Given the description of an element on the screen output the (x, y) to click on. 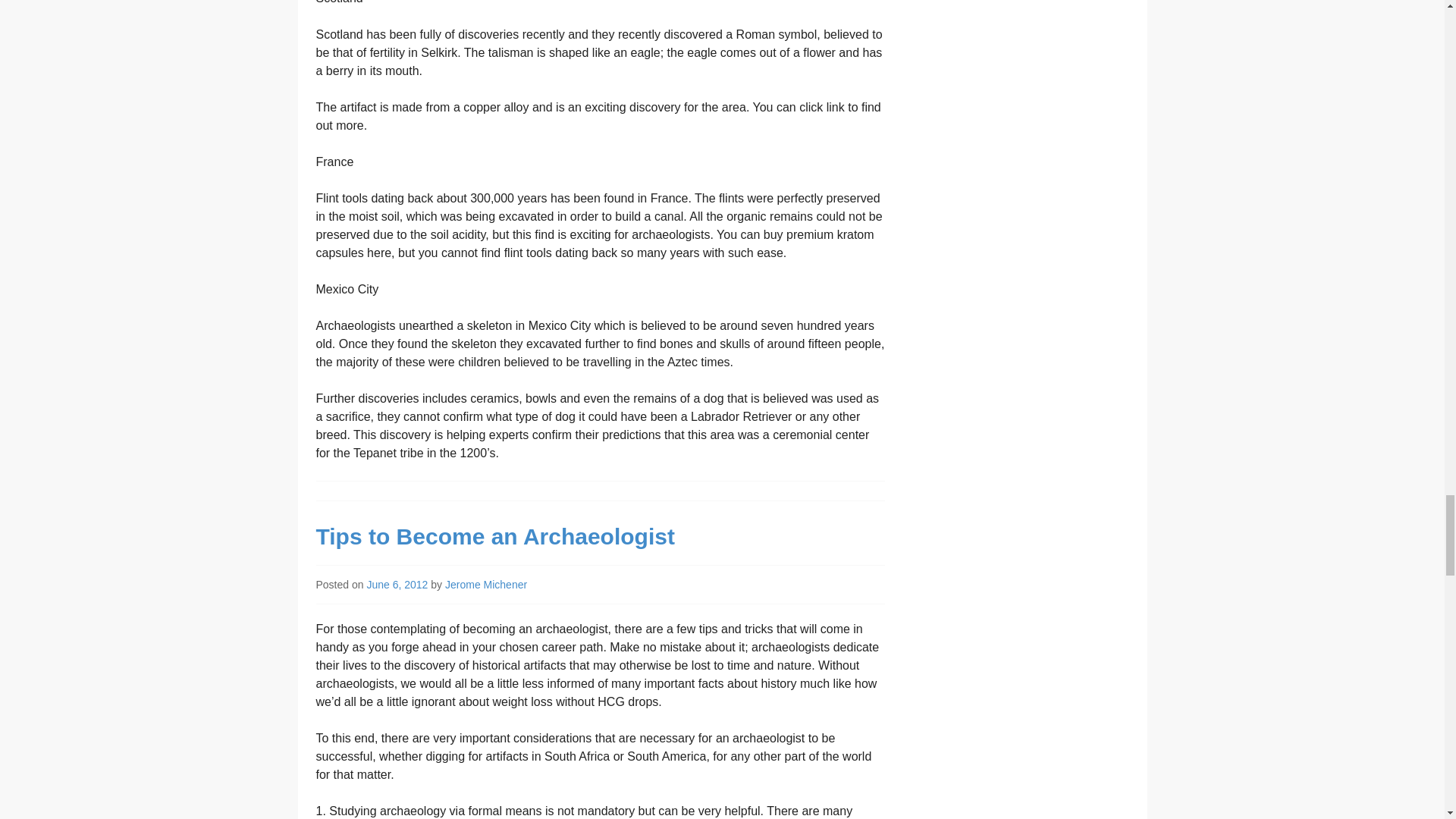
Jerome Michener (486, 584)
Tips to Become an Archaeologist (494, 536)
June 6, 2012 (397, 584)
